Given the description of an element on the screen output the (x, y) to click on. 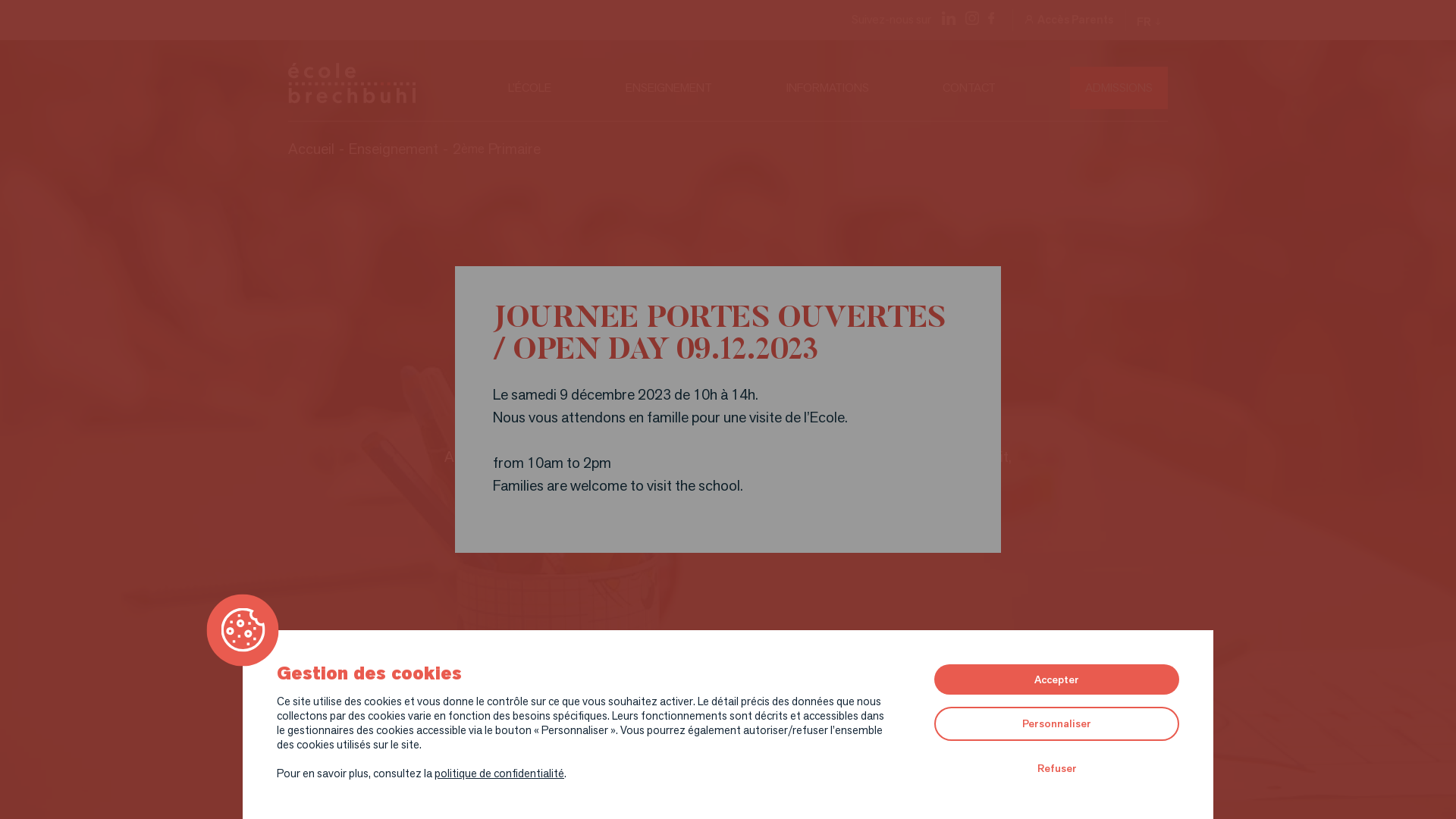
Facebook Element type: hover (988, 19)
INFORMATIONS Element type: text (826, 87)
Refuser Element type: text (1056, 768)
Personnaliser Element type: text (1056, 723)
Instagram Element type: hover (969, 19)
Home Element type: hover (398, 87)
Accepter Element type: text (1056, 679)
Linkedin Element type: hover (946, 19)
ENSEIGNEMENT Element type: text (668, 87)
Enseignement Element type: text (393, 148)
CONTACT Element type: text (968, 87)
ADMISSIONS Element type: text (1118, 87)
FR Element type: text (1148, 20)
Accueil Element type: text (311, 148)
